Given the description of an element on the screen output the (x, y) to click on. 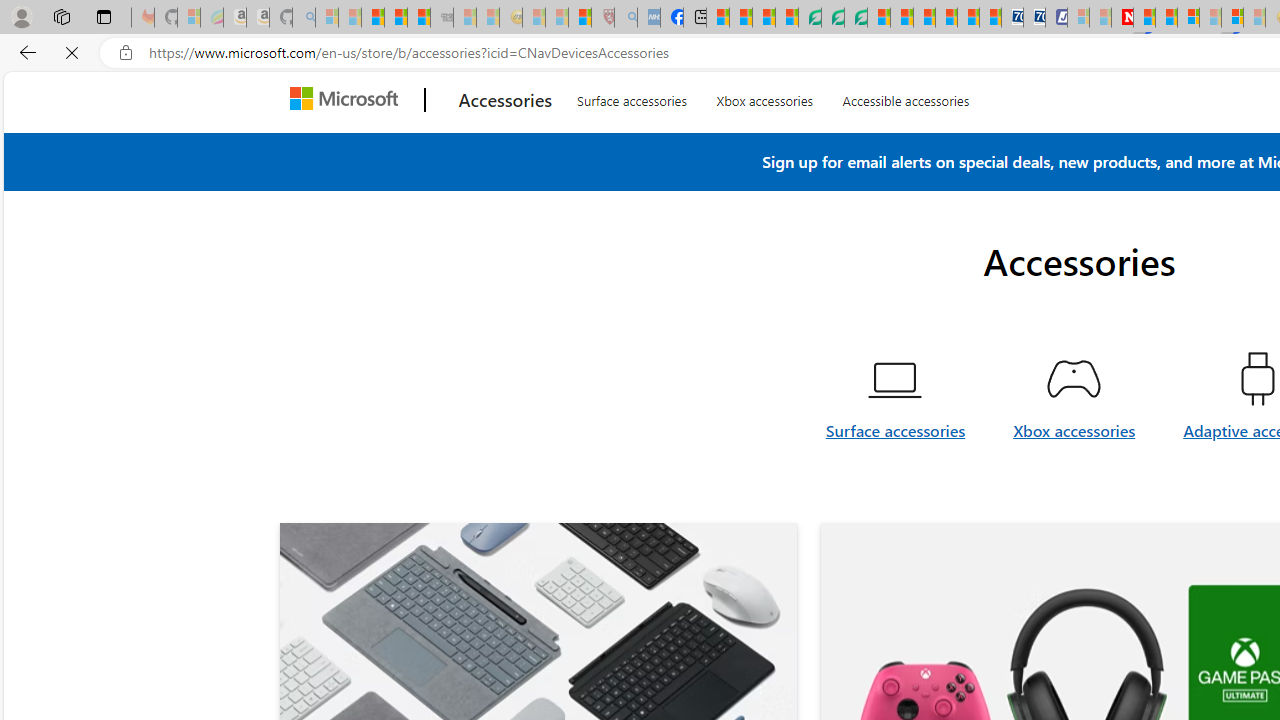
Cheap Hotels - Save70.com (1034, 17)
Accessories (505, 147)
Terms of Use Agreement (832, 17)
